Given the description of an element on the screen output the (x, y) to click on. 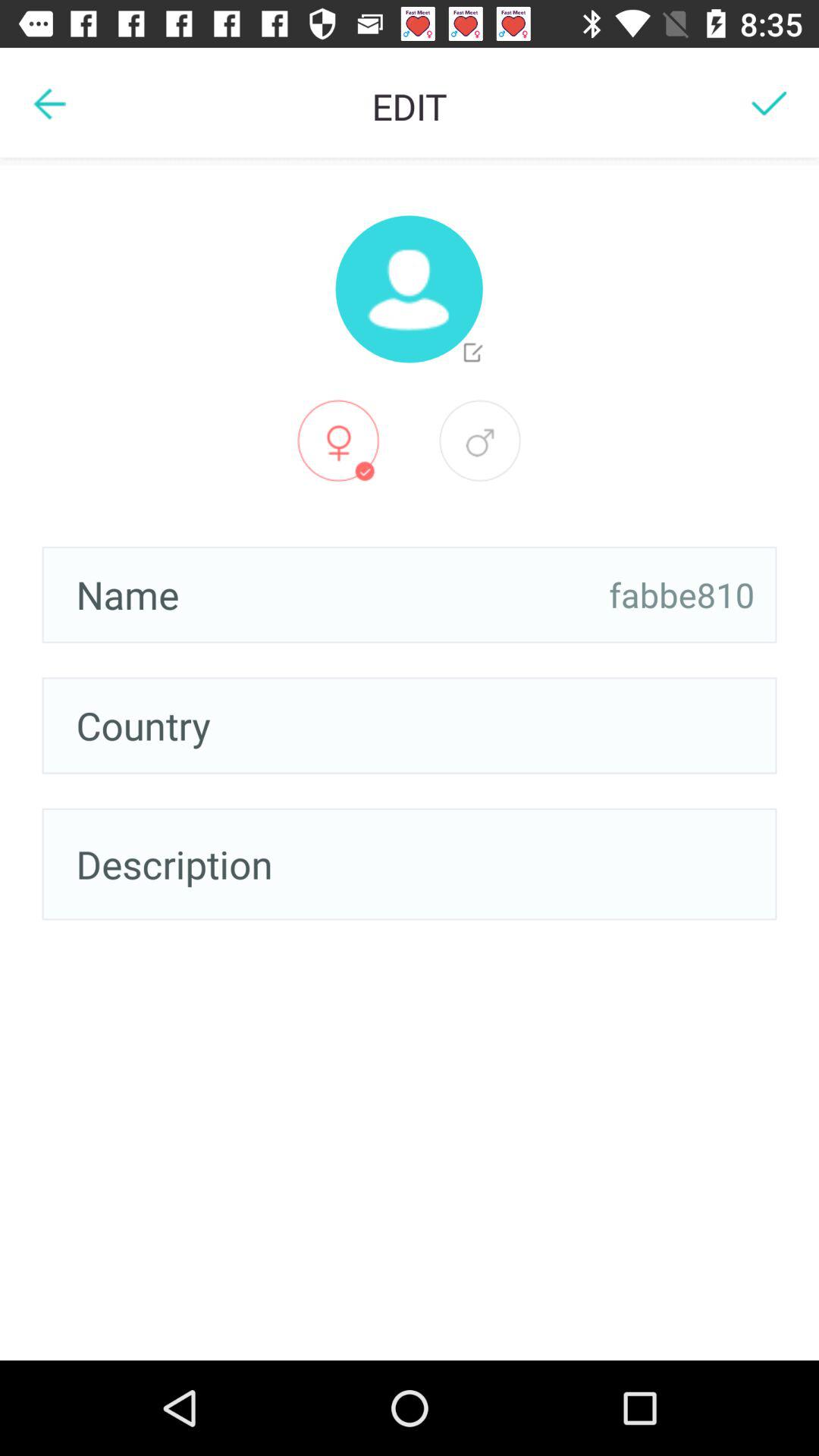
add profile picture (408, 288)
